Given the description of an element on the screen output the (x, y) to click on. 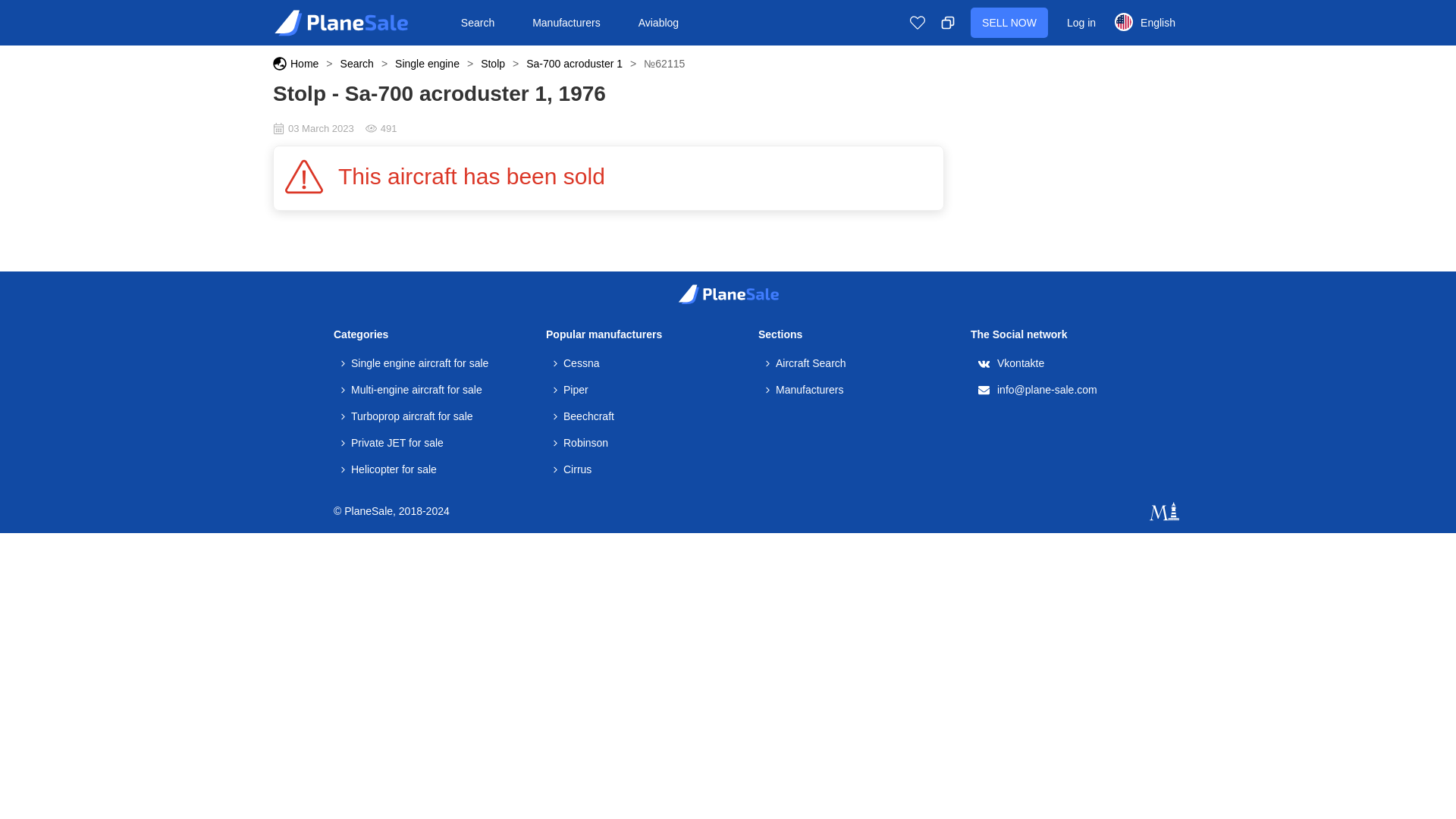
Helicopter for sale (388, 468)
Robinson (580, 442)
Cirrus (572, 468)
Private JET for sale (392, 442)
Sa-700 acroduster 1 (574, 63)
Multi-engine aircraft for sale (411, 389)
Single engine (427, 63)
Aviablog (658, 22)
Home (303, 63)
Stolp (492, 63)
Beechcraft (583, 415)
Manufacturers (804, 389)
Cessna (576, 363)
Piper (570, 389)
Search (357, 63)
